Given the description of an element on the screen output the (x, y) to click on. 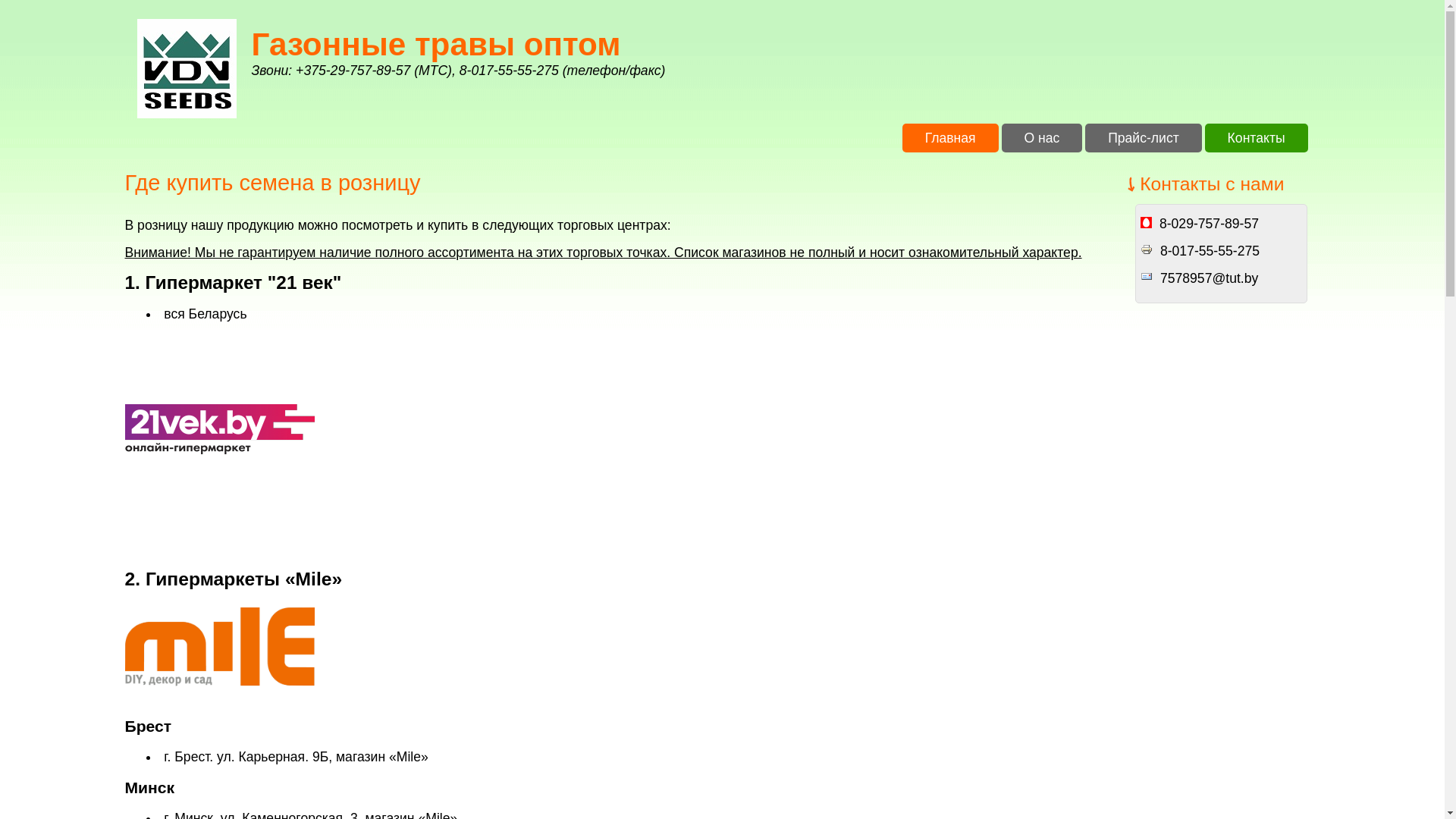
7578957@tut.by Element type: text (1209, 277)
Skip to search Element type: text (42, 0)
8-029-757-89-57 Element type: text (1208, 223)
